Given the description of an element on the screen output the (x, y) to click on. 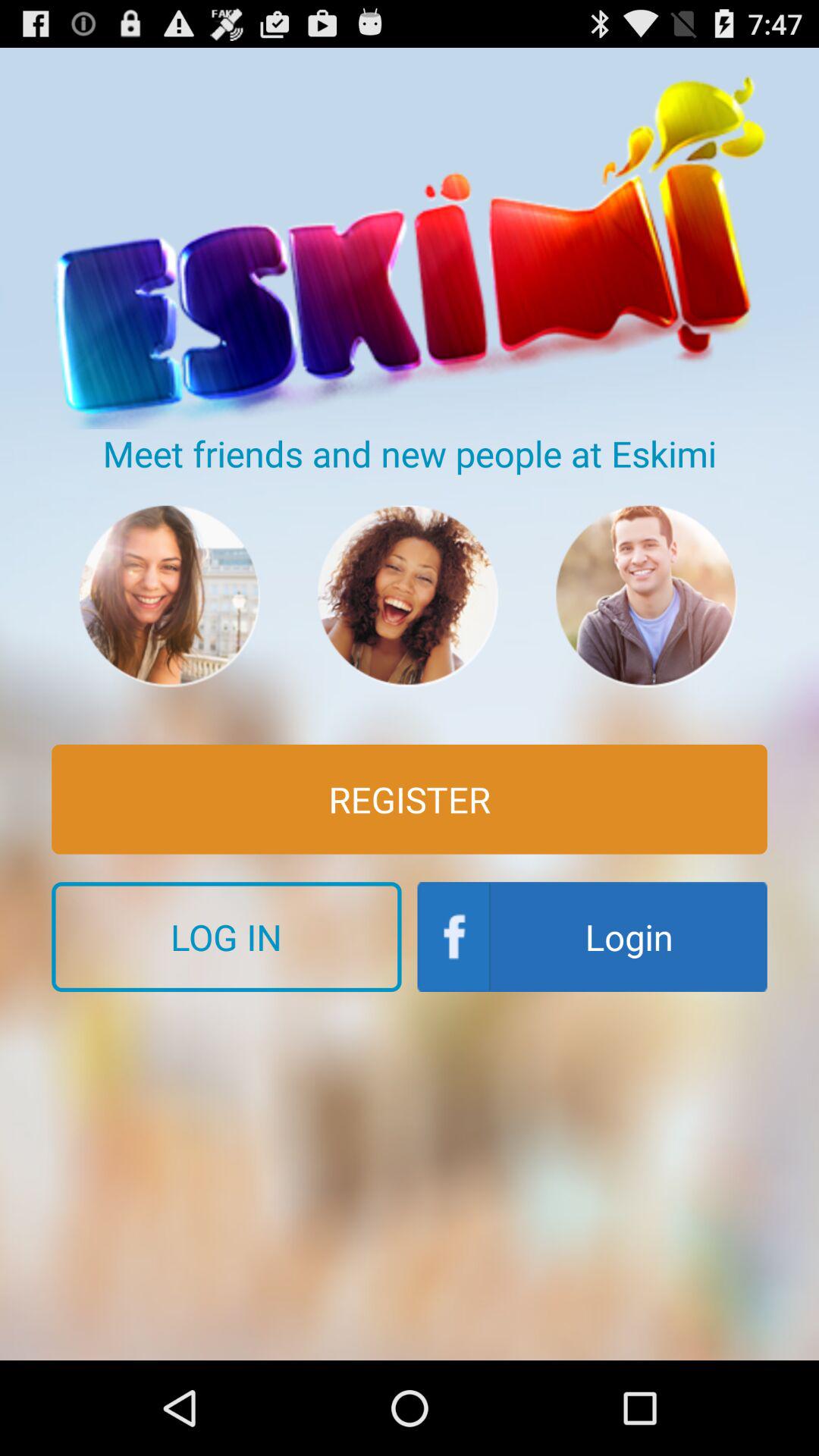
tap the log in (226, 936)
